Given the description of an element on the screen output the (x, y) to click on. 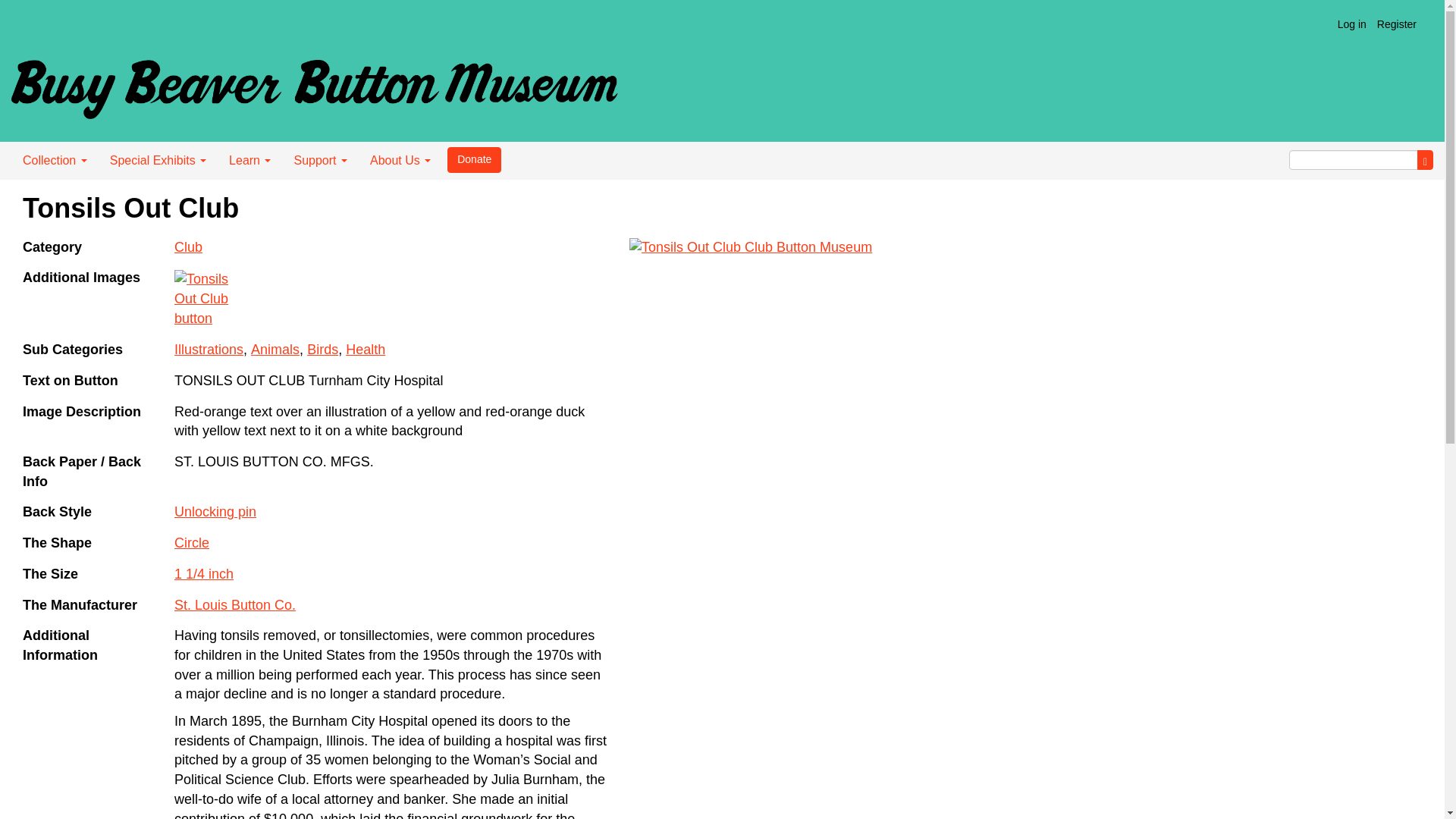
Support (320, 160)
Illustrations (208, 349)
Collection (55, 160)
Circle (191, 542)
Home (314, 83)
Tonsils Out Club (761, 359)
Unlocking pin (215, 511)
Special Exhibits (157, 160)
Donate (473, 159)
Birds (322, 349)
Log in (1351, 23)
About Us (400, 160)
Health (365, 349)
Donate (473, 159)
